Given the description of an element on the screen output the (x, y) to click on. 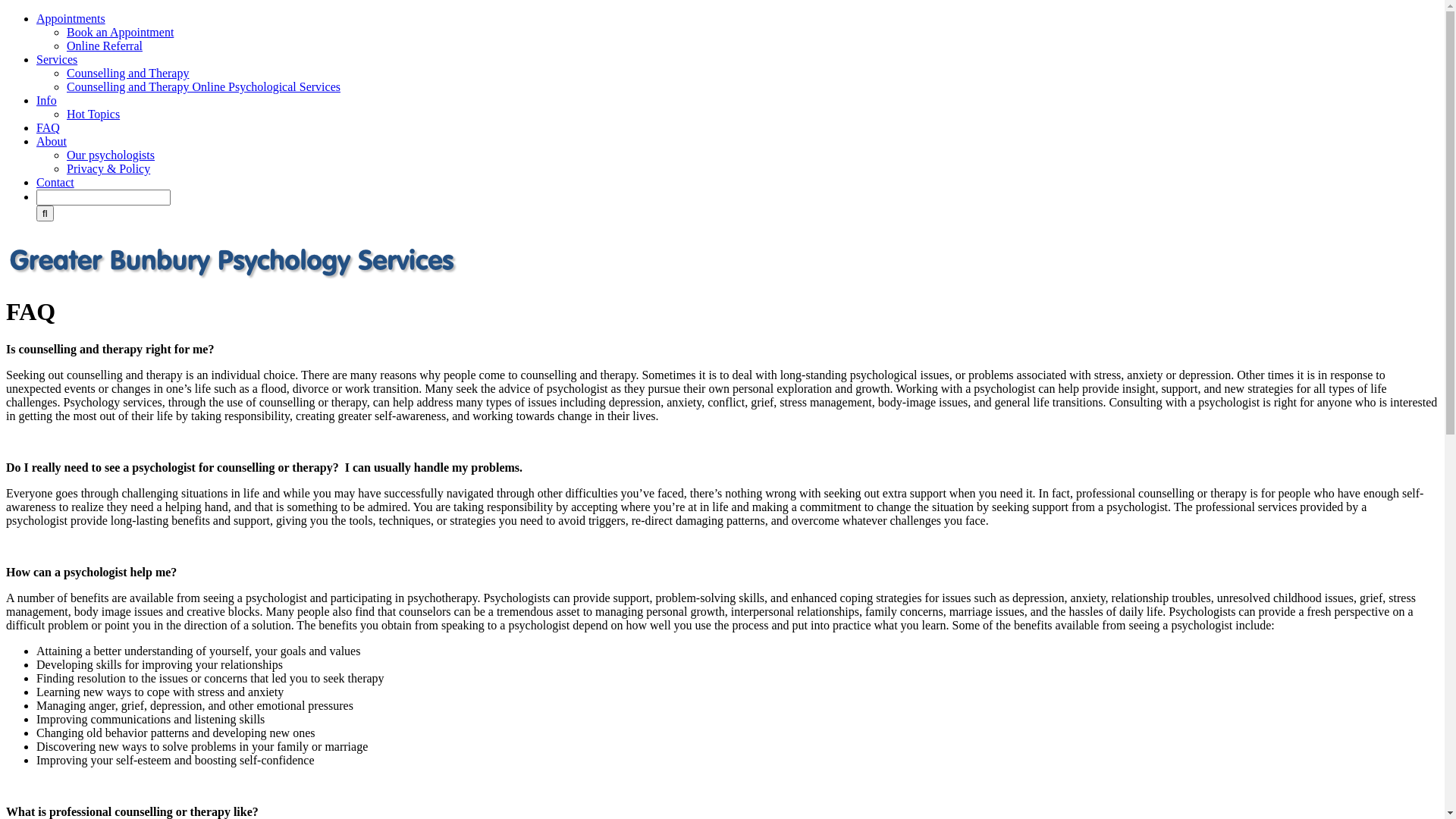
FAQ Element type: text (47, 127)
Book an Appointment Element type: text (119, 31)
Privacy & Policy Element type: text (108, 168)
Our psychologists Element type: text (110, 154)
Info Element type: text (46, 100)
Online Referral Element type: text (104, 45)
Counselling and Therapy Online Psychological Services Element type: text (203, 86)
Counselling and Therapy Element type: text (127, 72)
Services Element type: text (56, 59)
Hot Topics Element type: text (92, 113)
Appointments Element type: text (70, 18)
Contact Element type: text (55, 181)
About Element type: text (51, 140)
